Given the description of an element on the screen output the (x, y) to click on. 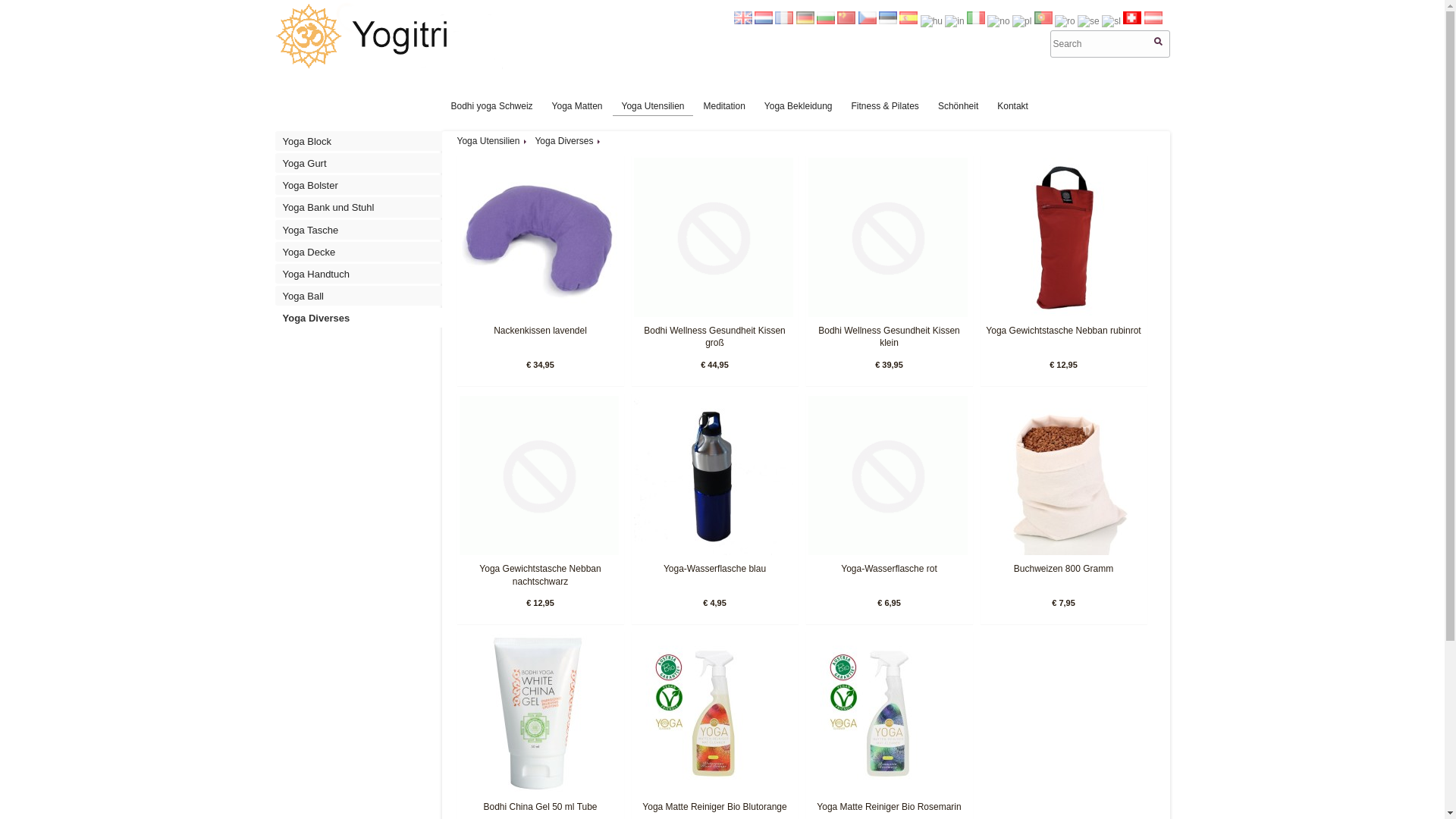
ro Element type: hover (1064, 20)
Yoga Diverses Element type: text (361, 318)
Yoga Matten Element type: text (576, 104)
es Element type: hover (908, 20)
Yoga Bolster Element type: text (361, 185)
Yoga Block Element type: text (361, 141)
pt Element type: hover (1043, 20)
no Element type: hover (998, 20)
Hier finden Sie Yoga-Wasserflasche blau | Bodhi Yoga Schweiz Element type: hover (713, 551)
Fitness & Pilates Element type: text (884, 104)
Kontakt Element type: text (1012, 104)
ee Element type: hover (887, 20)
se Element type: hover (1088, 20)
at Element type: hover (1152, 20)
cz Element type: hover (867, 20)
Yoga Tasche Element type: text (361, 229)
Hier finden Sie Buchweizen 800 Gramm | Bodhi Yoga Schweiz Element type: hover (1062, 551)
Yoga Handtuch Element type: text (361, 274)
Yoga Gurt Element type: text (361, 163)
Yoga Diverses Element type: text (563, 140)
Bodhi yoga Schweiz Element type: text (491, 104)
Yoga Utensilien Element type: text (652, 104)
en Element type: hover (743, 20)
in Element type: hover (953, 20)
Yoga Decke Element type: text (361, 252)
hu Element type: hover (931, 20)
Meditation Element type: text (723, 104)
de Element type: hover (805, 20)
Yoga Utensilien Element type: text (487, 140)
ch Element type: hover (1132, 20)
Yoga Ball Element type: text (361, 296)
fr Element type: hover (784, 20)
Hier finden Sie Yoga-Wasserflasche rot | Bodhi Yoga Schweiz Element type: hover (887, 551)
nl Element type: hover (763, 20)
bg Element type: hover (825, 20)
Yoga Bank und Stuhl Element type: text (361, 207)
it Element type: hover (975, 20)
sl Element type: hover (1110, 20)
Yoga Bekleidung Element type: text (798, 104)
pl Element type: hover (1021, 20)
cn Element type: hover (846, 20)
